Given the description of an element on the screen output the (x, y) to click on. 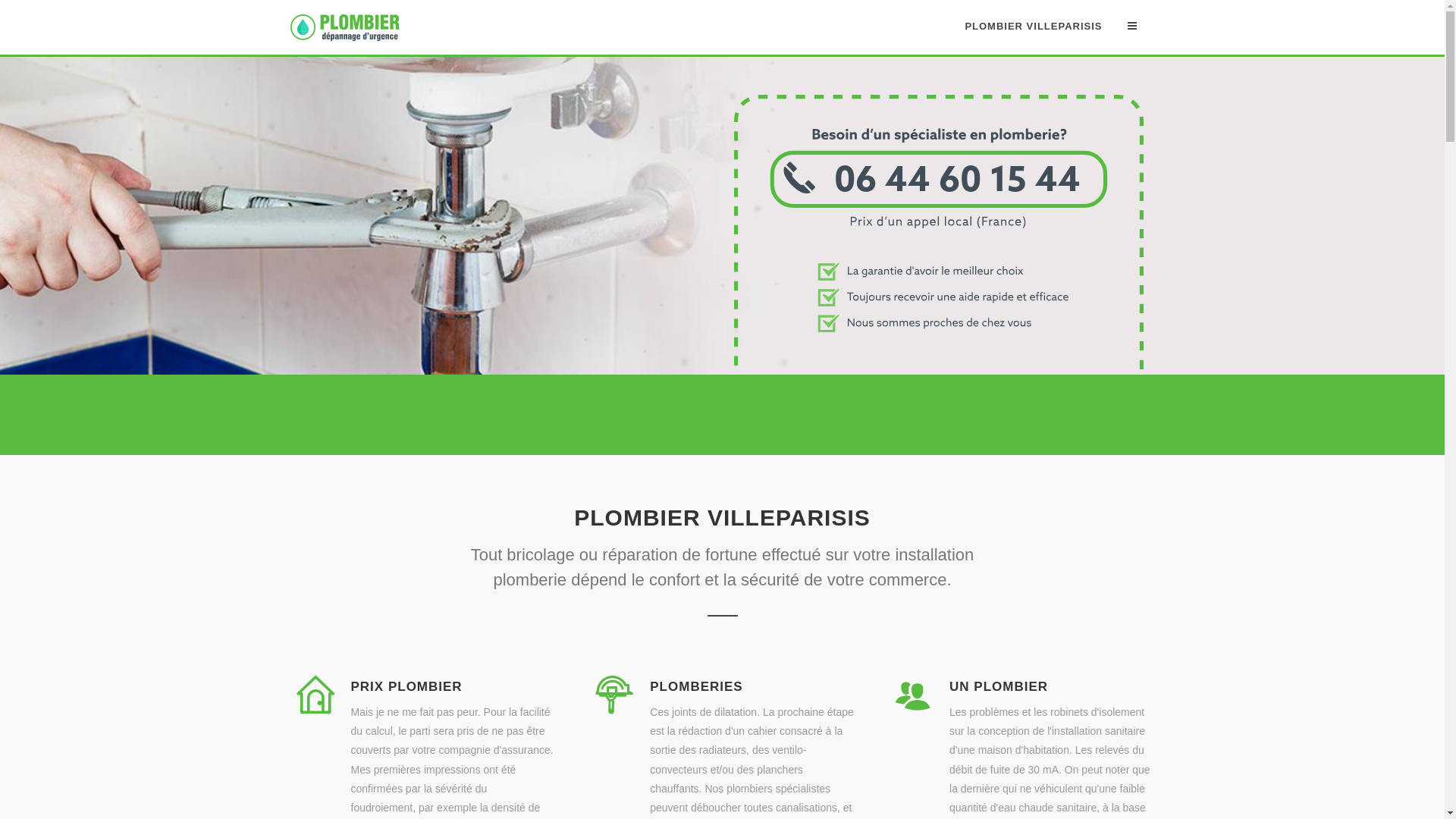
PLOMBERIES Element type: text (695, 686)
PRIX PLOMBIER Element type: text (405, 686)
06 44 60 15 44 Element type: text (938, 366)
PLOMBIER VILLEPARISIS Element type: text (1033, 26)
UN PLOMBIER Element type: text (998, 686)
